Given the description of an element on the screen output the (x, y) to click on. 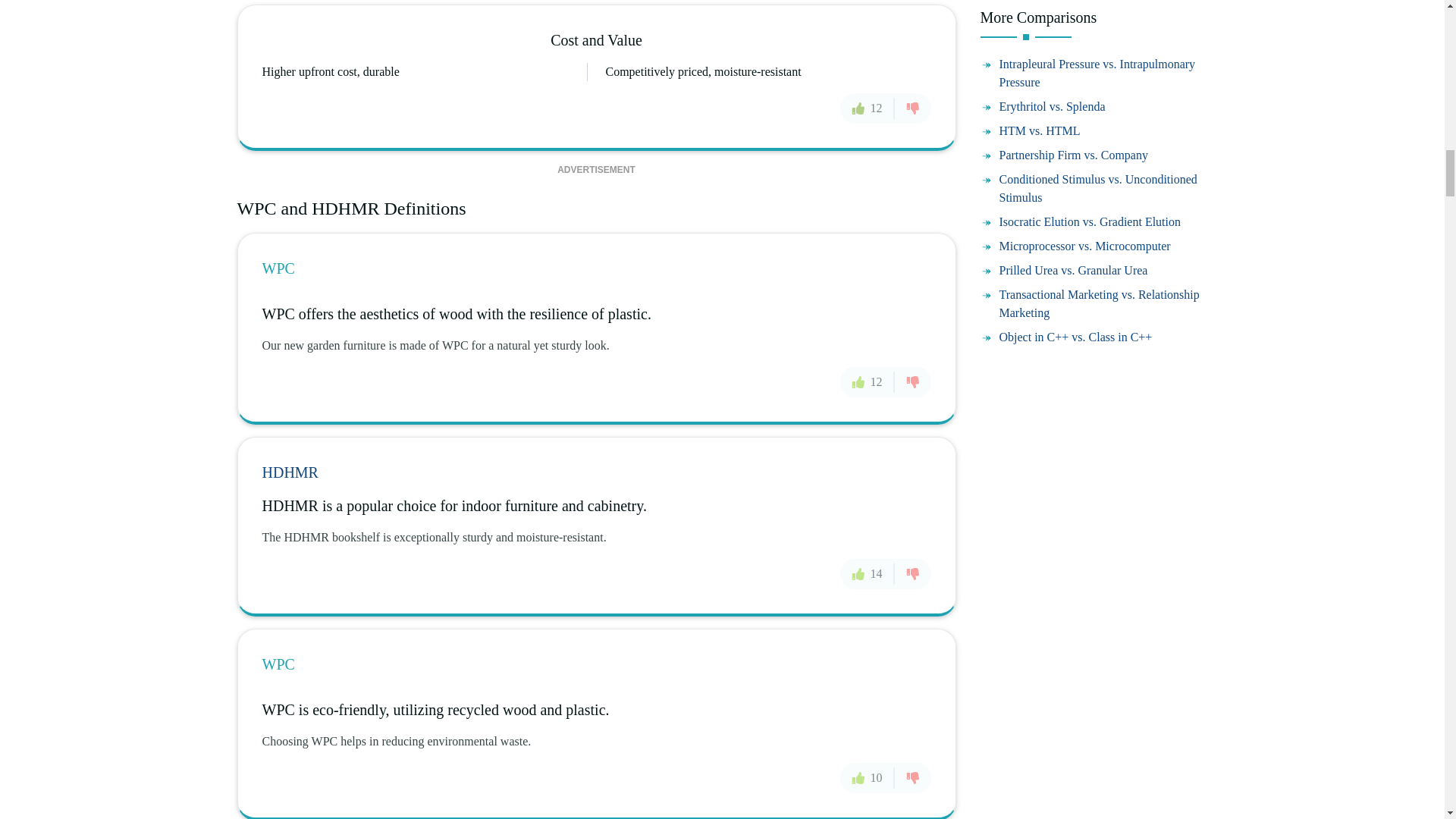
12 (867, 381)
10 (867, 777)
12 (867, 107)
14 (867, 572)
